Given the description of an element on the screen output the (x, y) to click on. 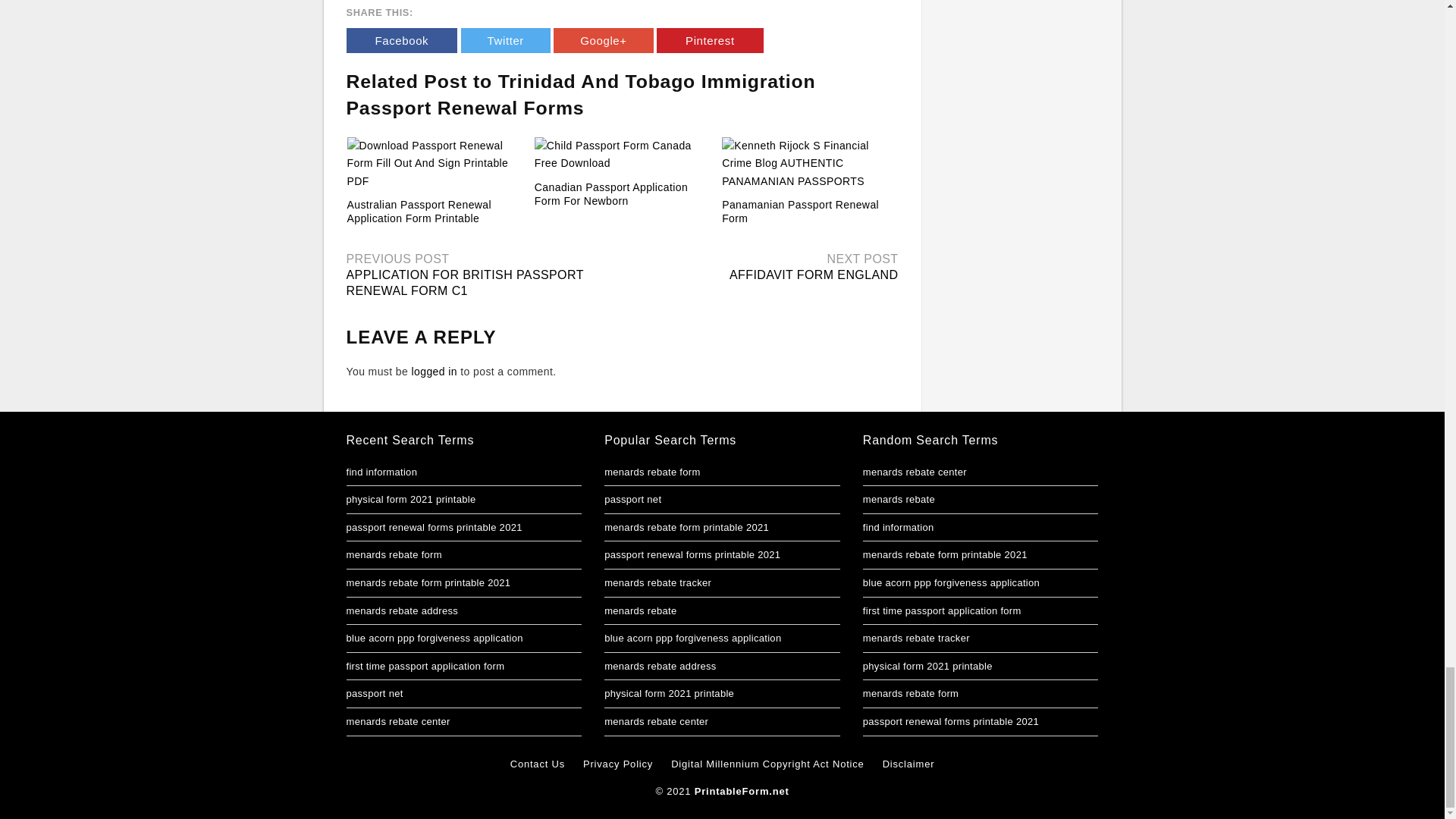
AFFIDAVIT FORM ENGLAND (813, 274)
logged in (434, 371)
APPLICATION FOR BRITISH PASSPORT RENEWAL FORM C1 (464, 282)
Facebook (401, 40)
Twitter (505, 40)
Canadian Passport Application Form For Newborn (610, 193)
Pinterest (709, 40)
Panamanian Passport Renewal Form (800, 211)
Australian Passport Renewal Application Form Printable (434, 163)
Australian Passport Renewal Application Form Printable (419, 211)
